Given the description of an element on the screen output the (x, y) to click on. 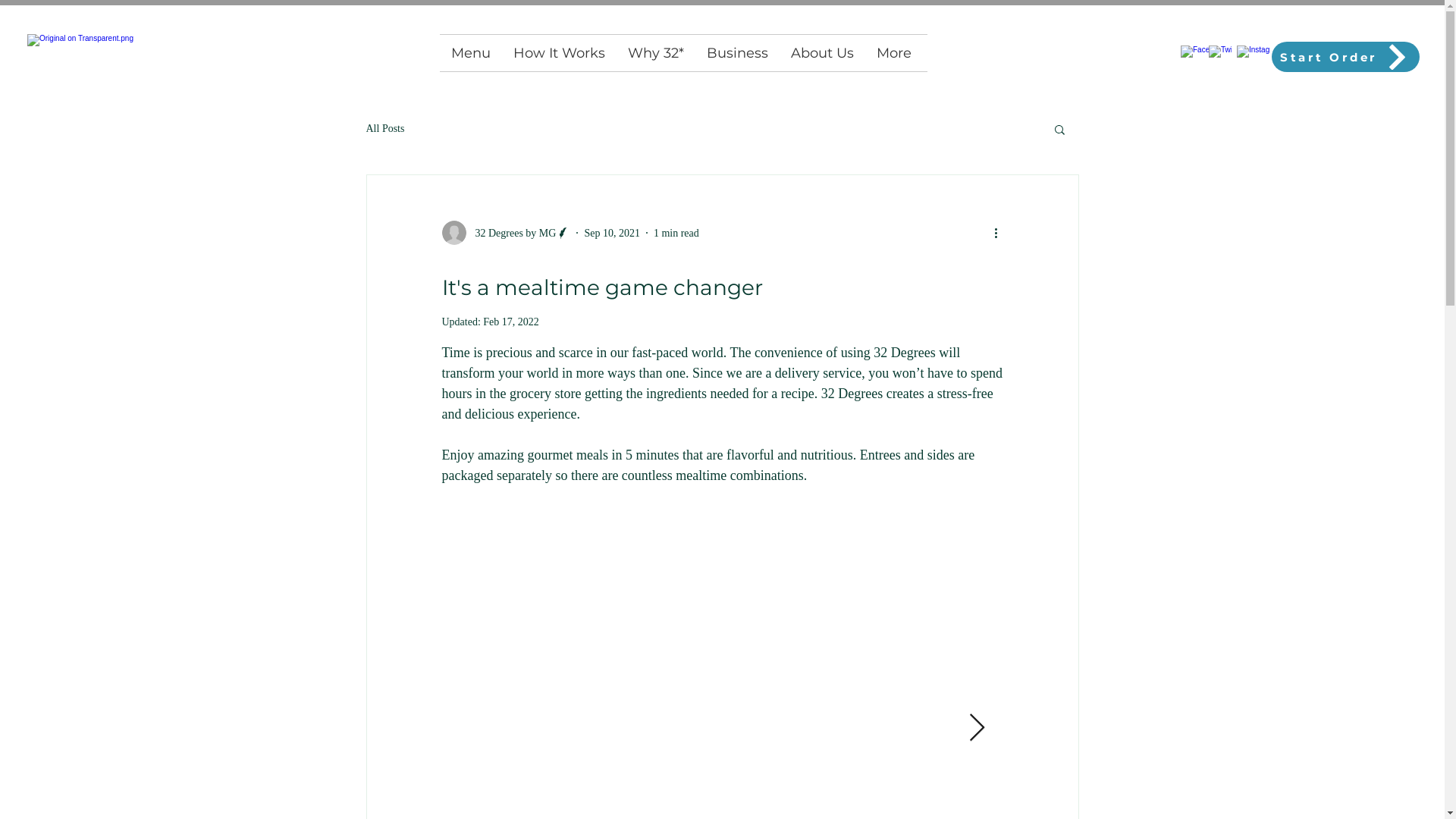
Business Element type: text (736, 52)
About Us Element type: text (822, 52)
Start Order Element type: text (1345, 56)
Menu Element type: text (470, 52)
Why 32* Element type: text (654, 52)
All Posts Element type: text (384, 128)
How It Works Element type: text (559, 52)
32 Degrees by MG Element type: text (505, 232)
